Given the description of an element on the screen output the (x, y) to click on. 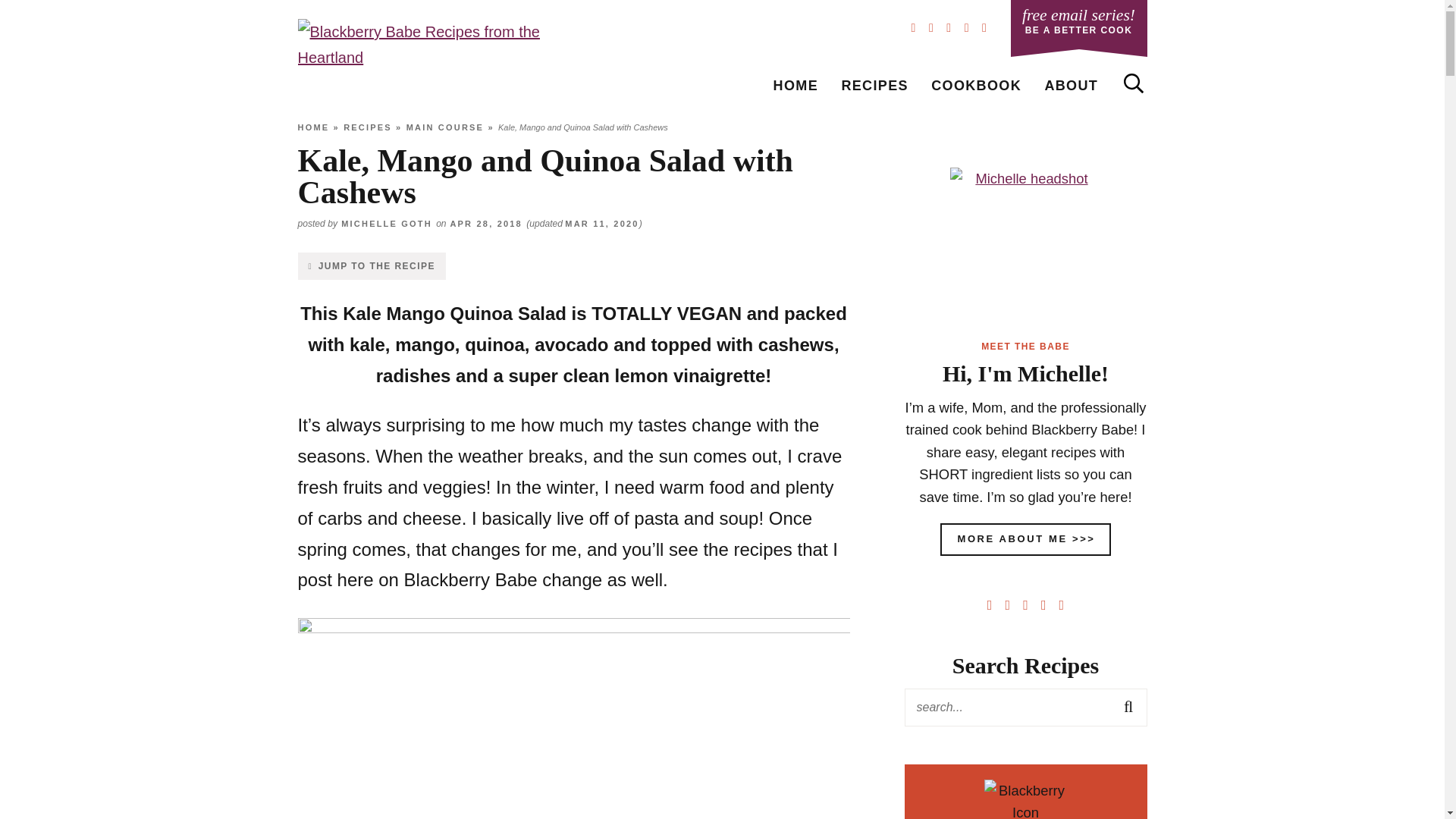
COOKBOOK (976, 85)
Blackberry Babe (1078, 24)
More About Me (429, 57)
ABOUT (1024, 243)
HOME (1070, 85)
RECIPES (795, 85)
